Given the description of an element on the screen output the (x, y) to click on. 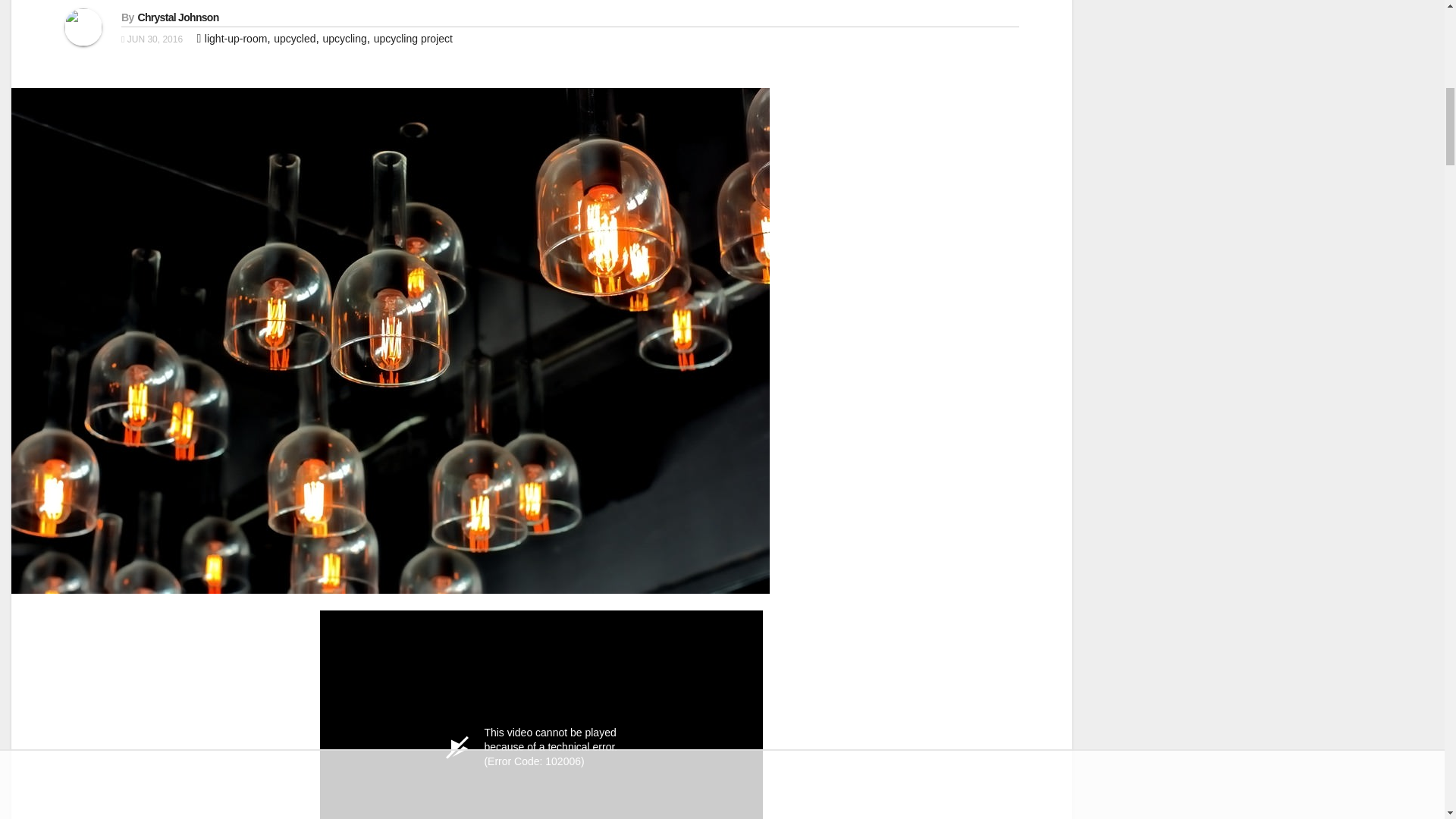
upcycling (343, 38)
Chrystal Johnson (178, 17)
light-up-room (235, 38)
upcycling project (413, 38)
upcycled (294, 38)
